Given the description of an element on the screen output the (x, y) to click on. 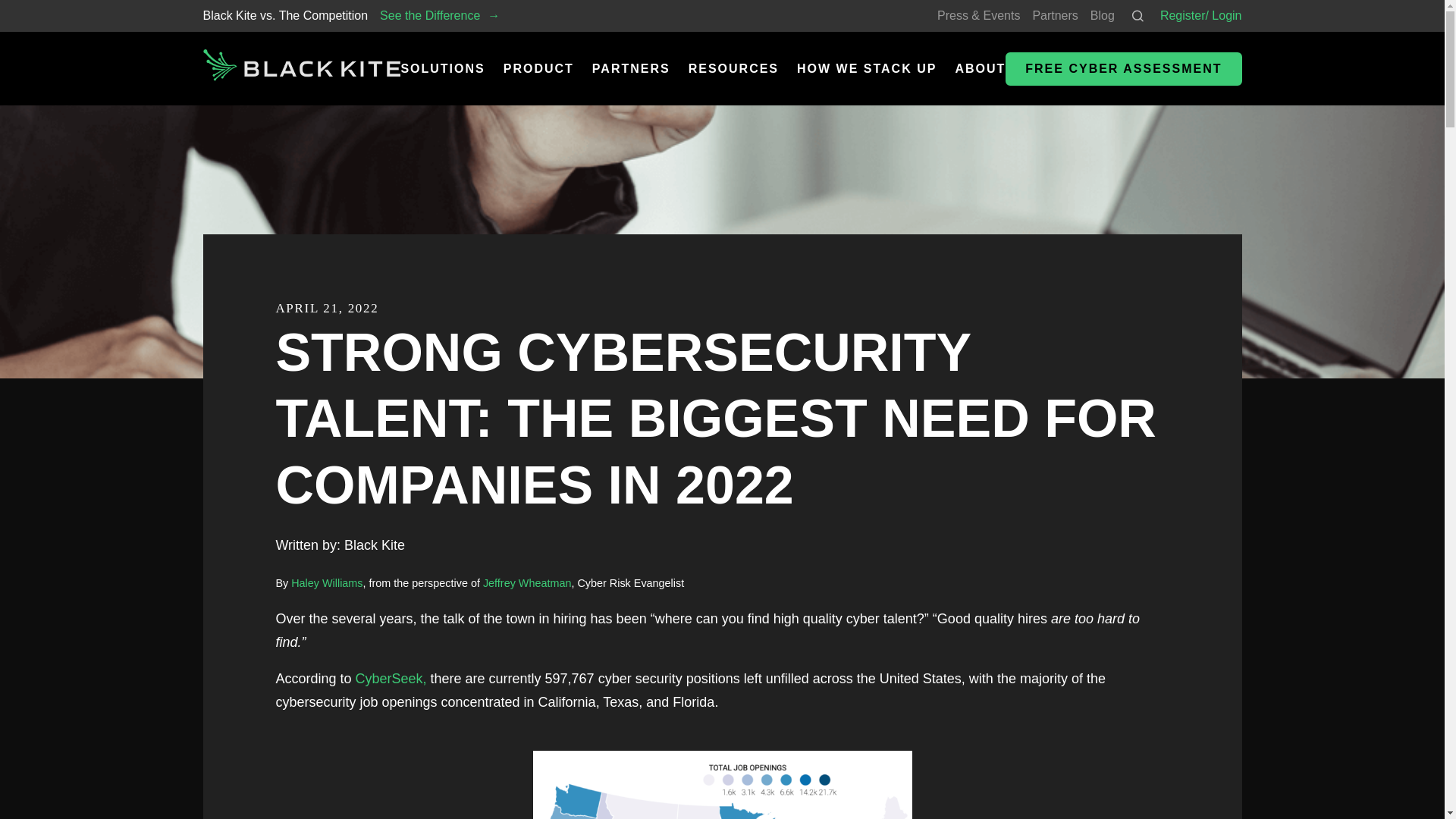
RESOURCES (733, 68)
PRODUCT (538, 68)
Partners (1054, 15)
Blog (1102, 15)
See the Difference (439, 14)
SOLUTIONS (442, 68)
PARTNERS (630, 68)
